Given the description of an element on the screen output the (x, y) to click on. 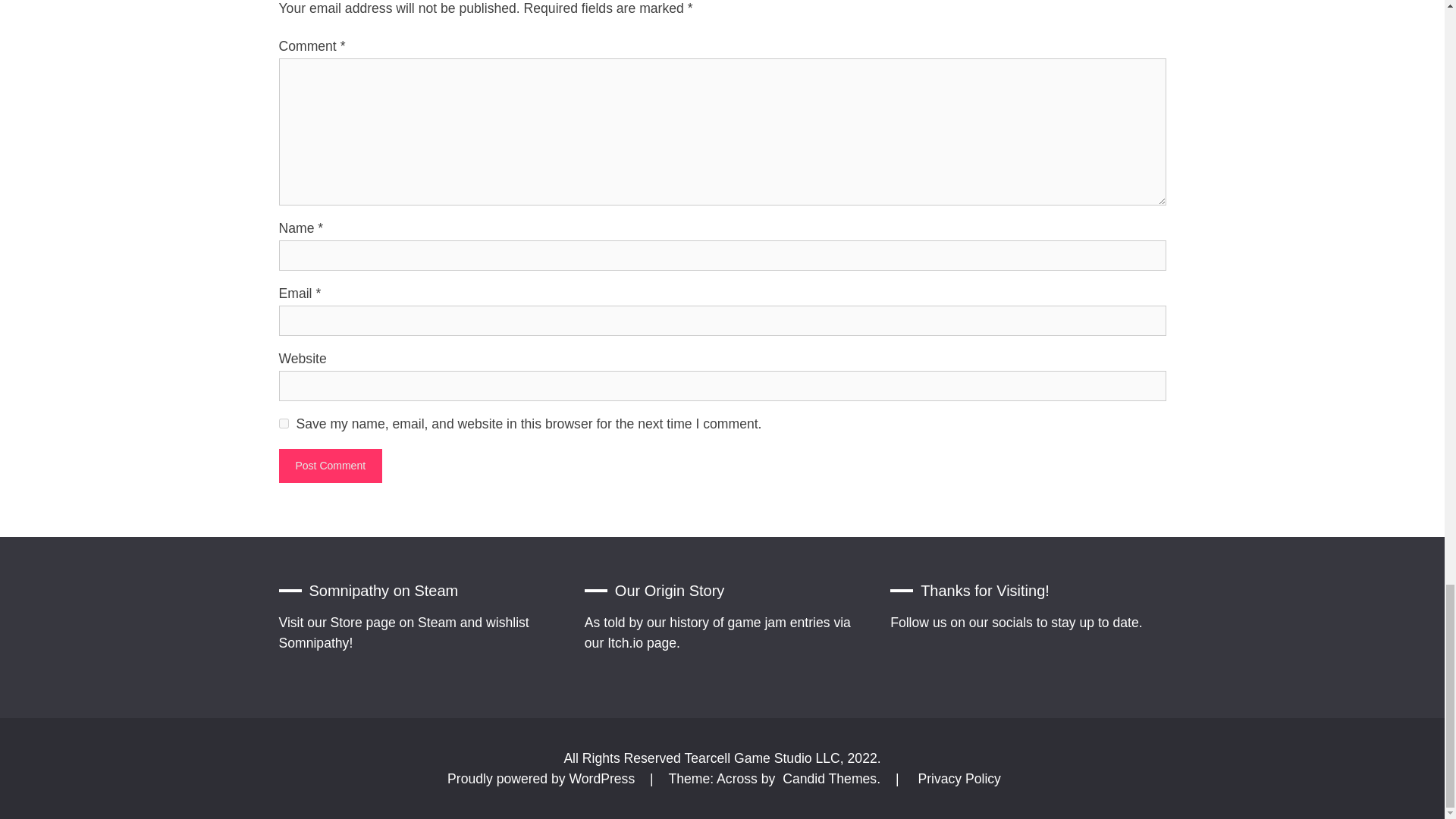
Candid Themes (829, 778)
Post Comment (330, 465)
Visit our Store page on Steam and wishlist Somnipathy! (404, 632)
Privacy Policy (959, 778)
Proudly powered by WordPress (542, 778)
yes (283, 423)
Itch.io page. (643, 642)
Post Comment (330, 465)
